Given the description of an element on the screen output the (x, y) to click on. 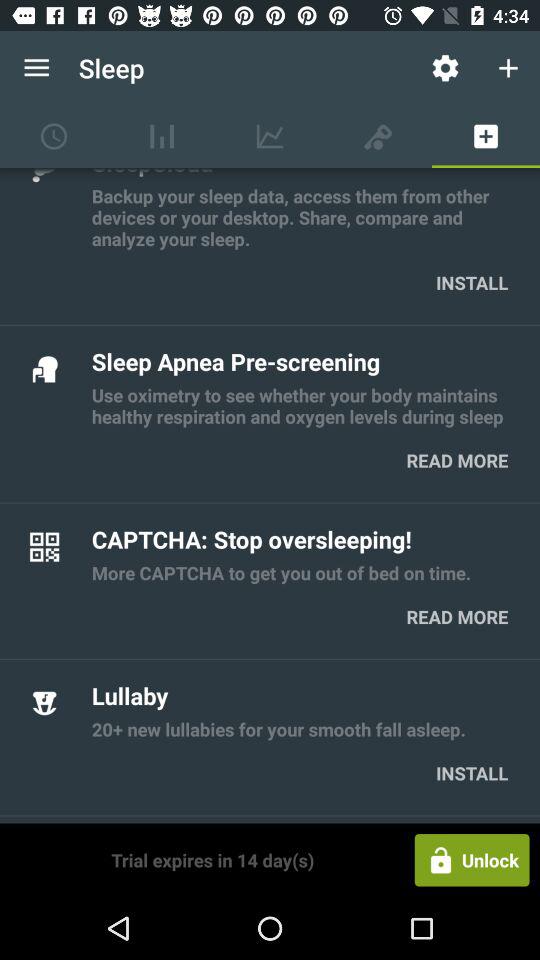
tap app to the right of sleep icon (444, 67)
